Given the description of an element on the screen output the (x, y) to click on. 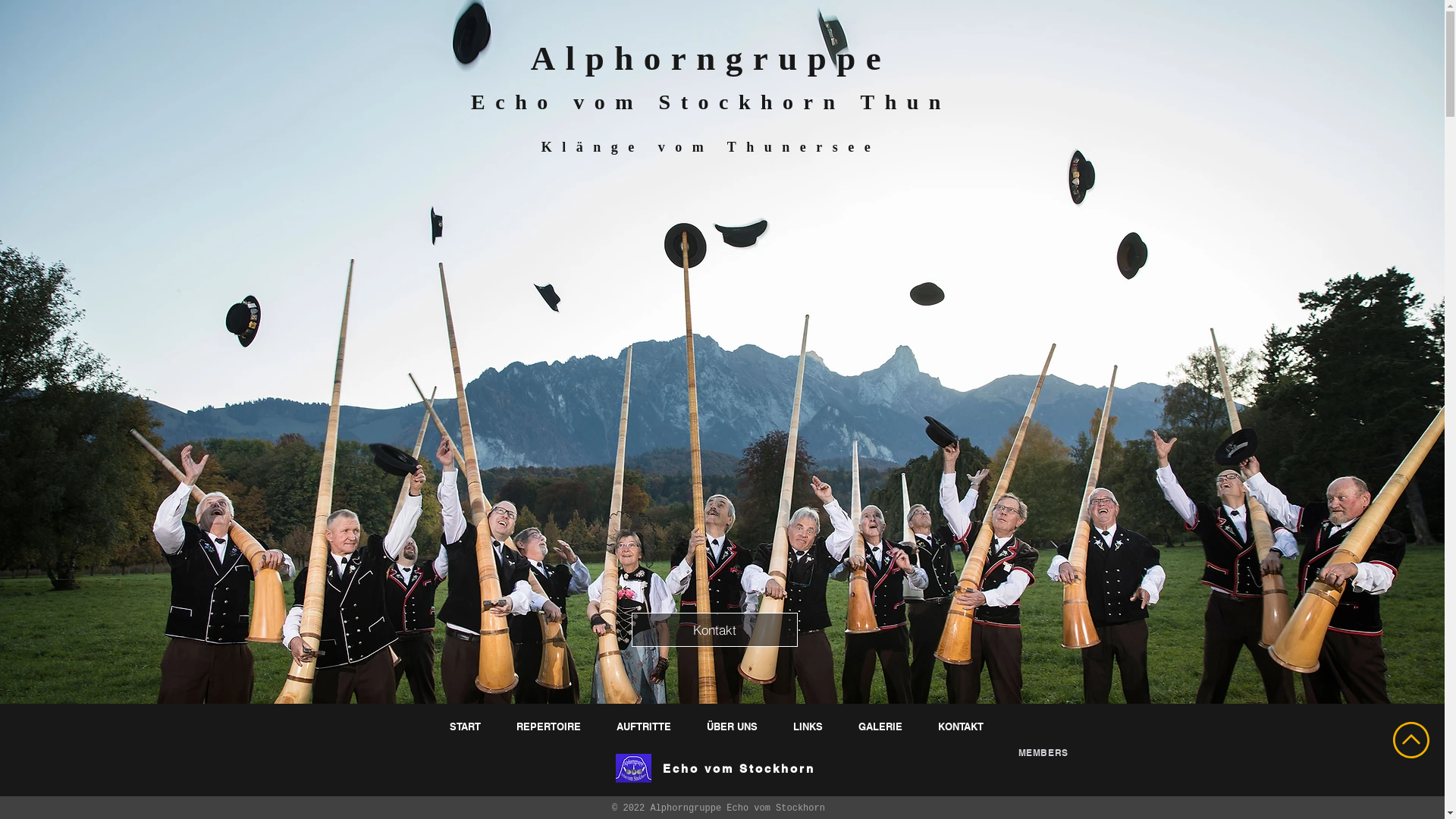
GALERIE Element type: text (881, 726)
MEMBERS Element type: text (1042, 752)
KONTAKT Element type: text (962, 726)
REPERTOIRE Element type: text (550, 726)
AUFTRITTE Element type: text (645, 726)
Kontakt Element type: text (713, 629)
Echo vom Stockhorn Element type: text (738, 768)
START Element type: text (466, 726)
LINKS Element type: text (808, 726)
